Given the description of an element on the screen output the (x, y) to click on. 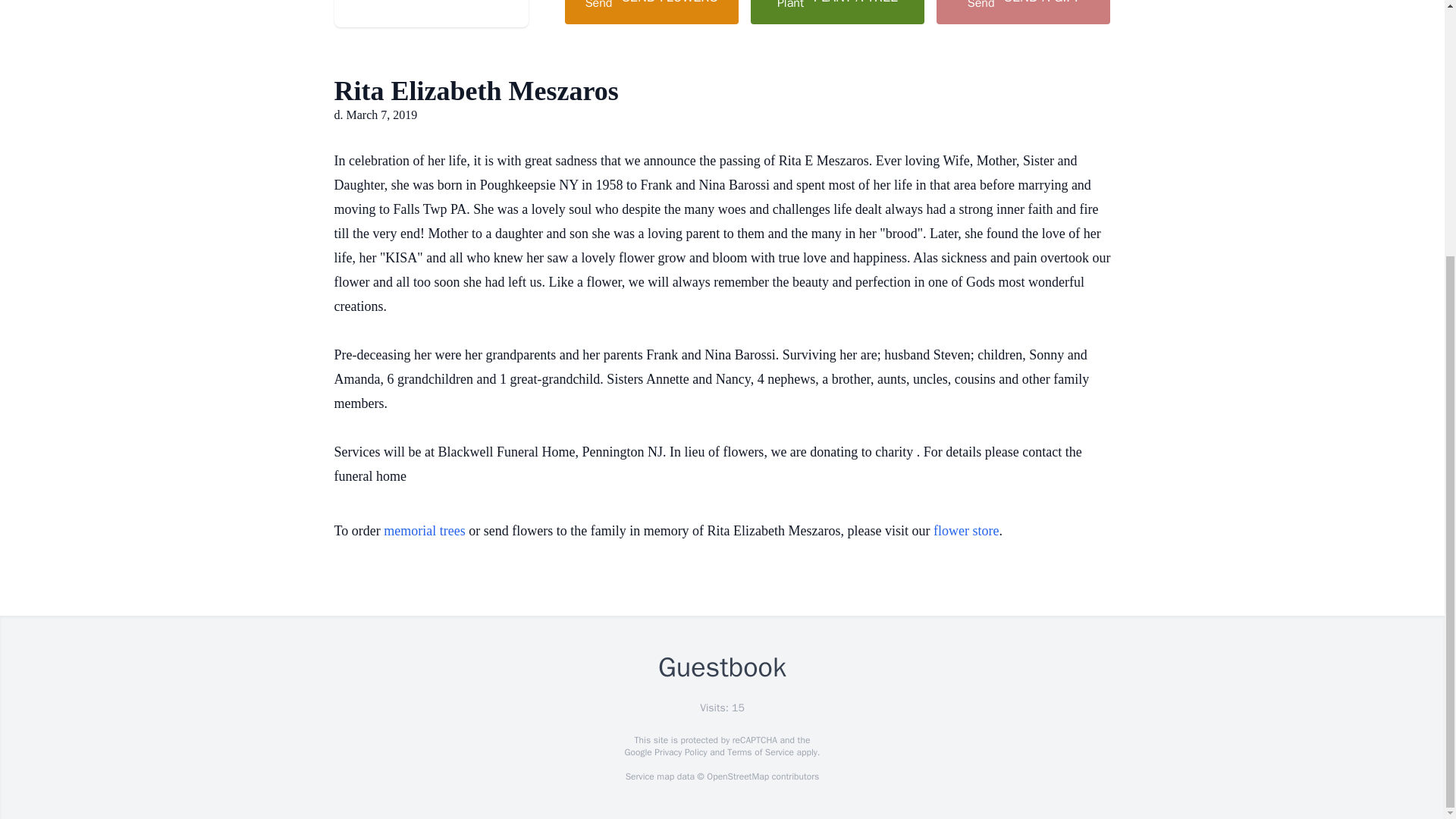
OpenStreetMap (737, 776)
Privacy Policy (679, 752)
SEND FLOWERS (651, 12)
memorial trees (424, 530)
Terms of Service (759, 752)
PLANT A TREE (837, 12)
flower store (965, 530)
SEND A GIFT (1022, 12)
